Given the description of an element on the screen output the (x, y) to click on. 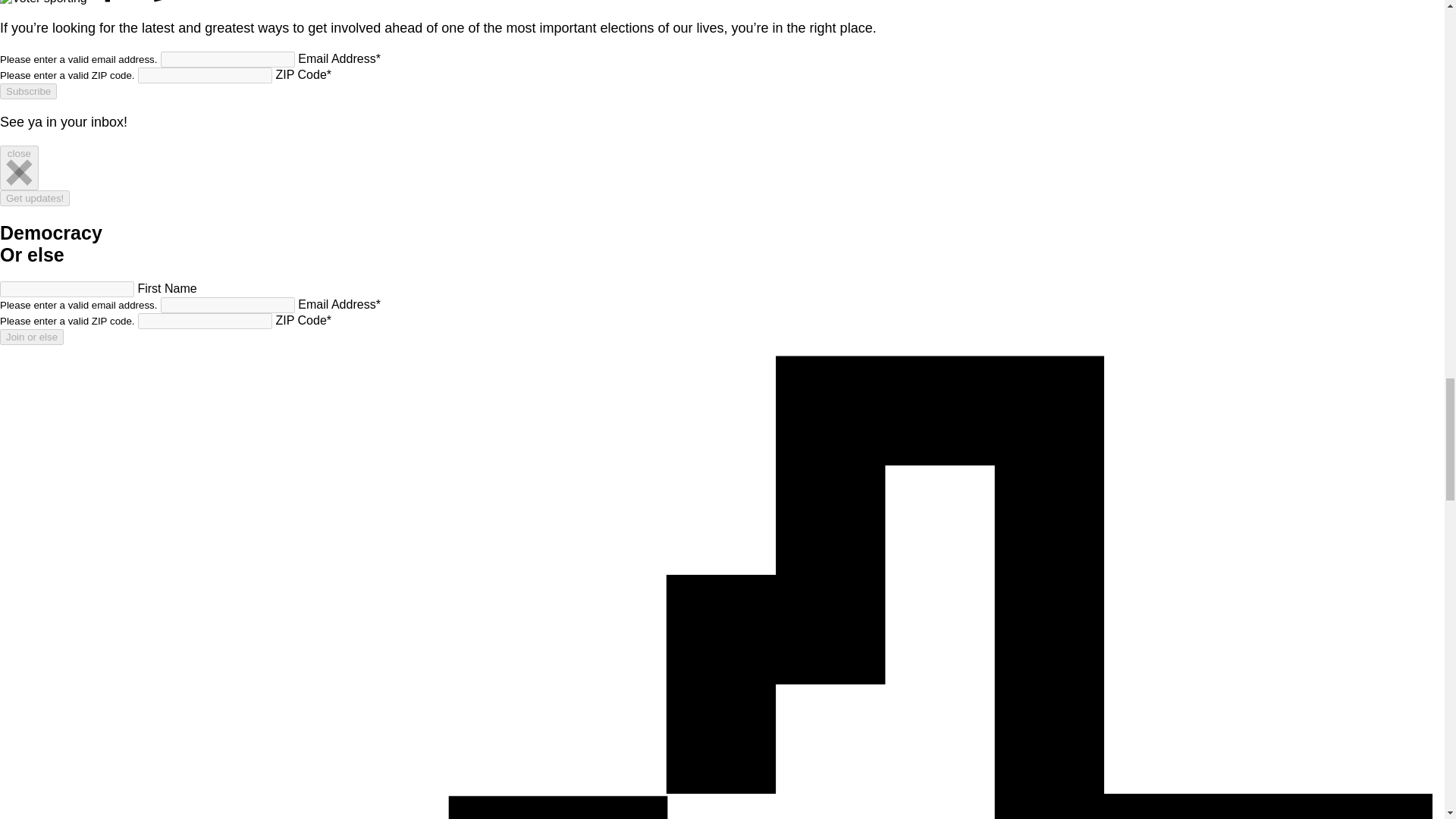
Five digit zip code (205, 75)
Subscribe (28, 91)
Subscribe (28, 91)
Five digit zip code (205, 320)
Join or else (32, 336)
